Given the description of an element on the screen output the (x, y) to click on. 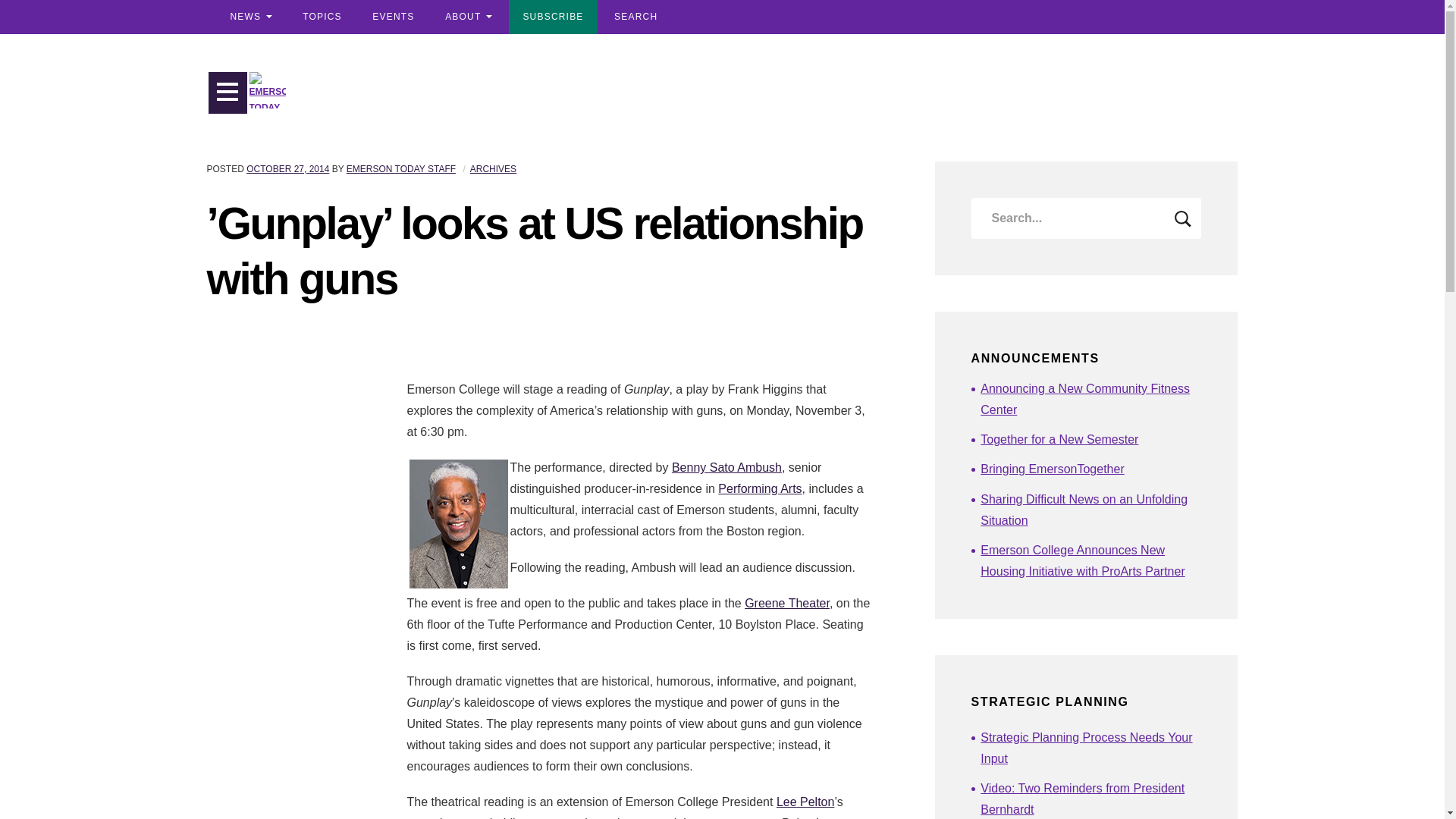
EVENTS (393, 17)
SUBSCRIBE (552, 17)
ARCHIVES (493, 168)
OCTOBER 27, 2014 (287, 168)
OPEN MENU OVERLAY (227, 92)
Performing Arts (759, 488)
TOPICS (321, 17)
Together for a New Semester (1090, 439)
ABOUT (467, 17)
EMERSON TODAY STAFF (400, 168)
